Given the description of an element on the screen output the (x, y) to click on. 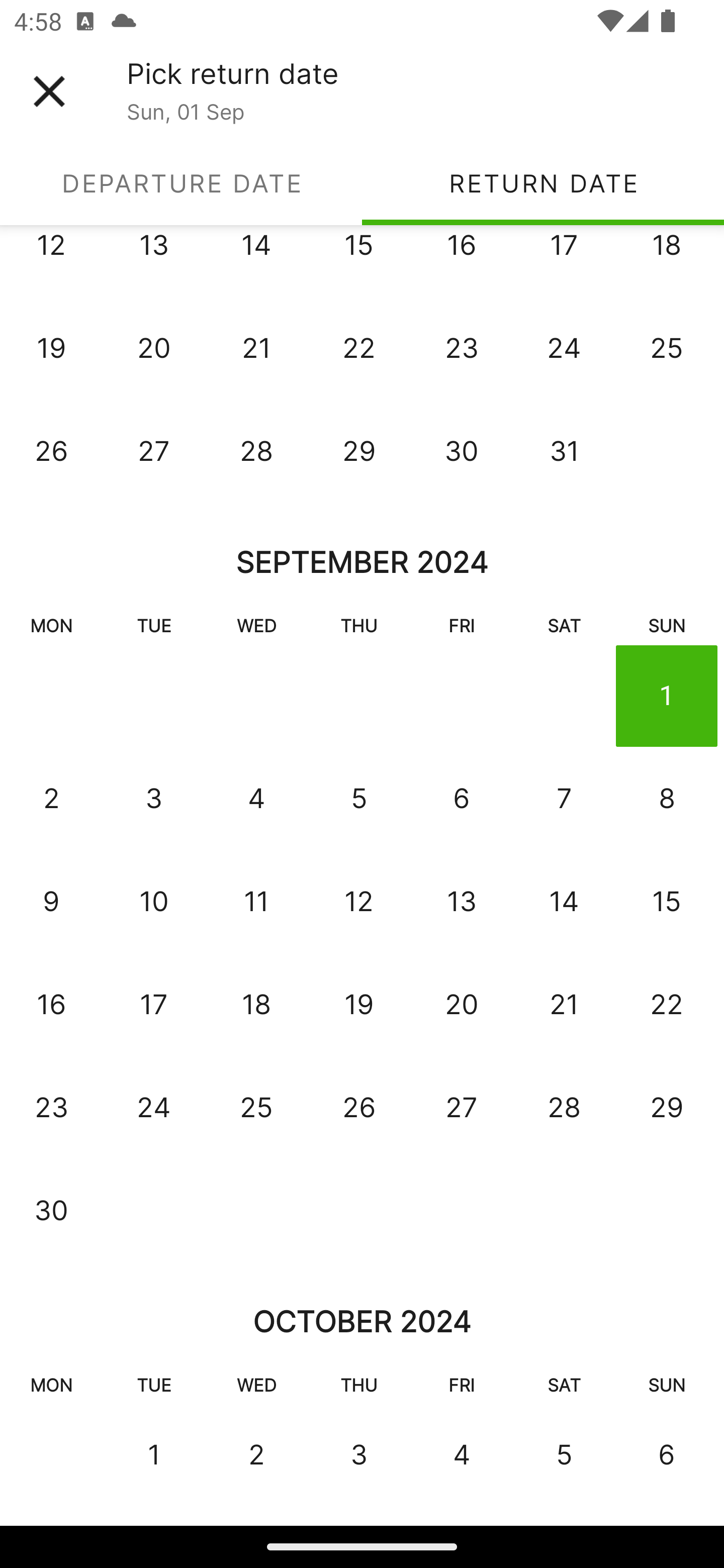
Departure Date DEPARTURE DATE (181, 183)
